Given the description of an element on the screen output the (x, y) to click on. 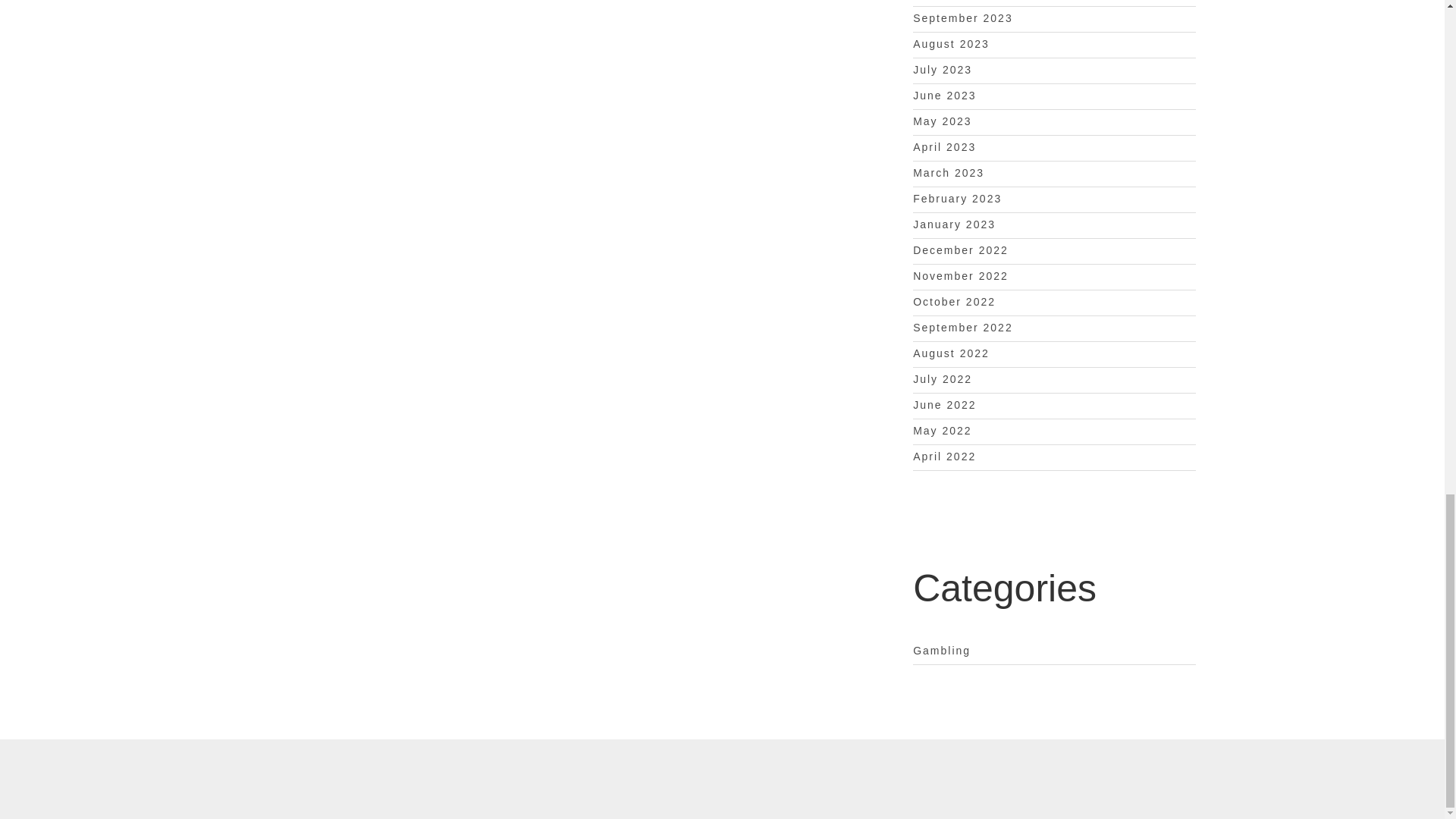
October 2022 (953, 301)
March 2023 (948, 173)
February 2023 (956, 198)
September 2022 (962, 327)
April 2023 (943, 146)
June 2022 (943, 404)
July 2023 (942, 69)
December 2022 (960, 250)
August 2023 (951, 43)
August 2022 (951, 353)
June 2023 (943, 95)
January 2023 (953, 224)
May 2023 (941, 121)
July 2022 (942, 378)
May 2022 (941, 430)
